Given the description of an element on the screen output the (x, y) to click on. 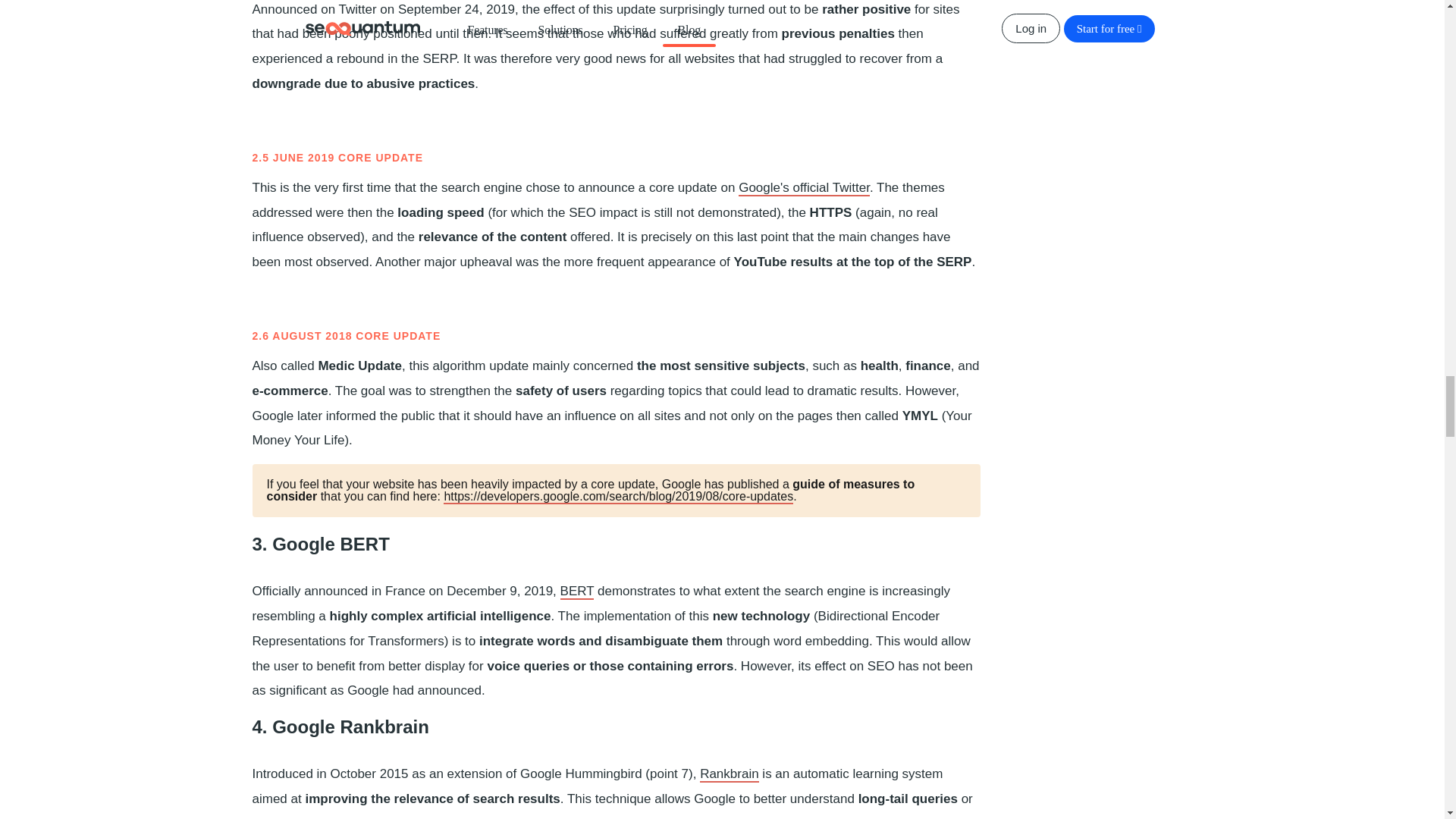
Google's official Twitter (803, 188)
Rankbrain (729, 774)
BERT (577, 591)
